Given the description of an element on the screen output the (x, y) to click on. 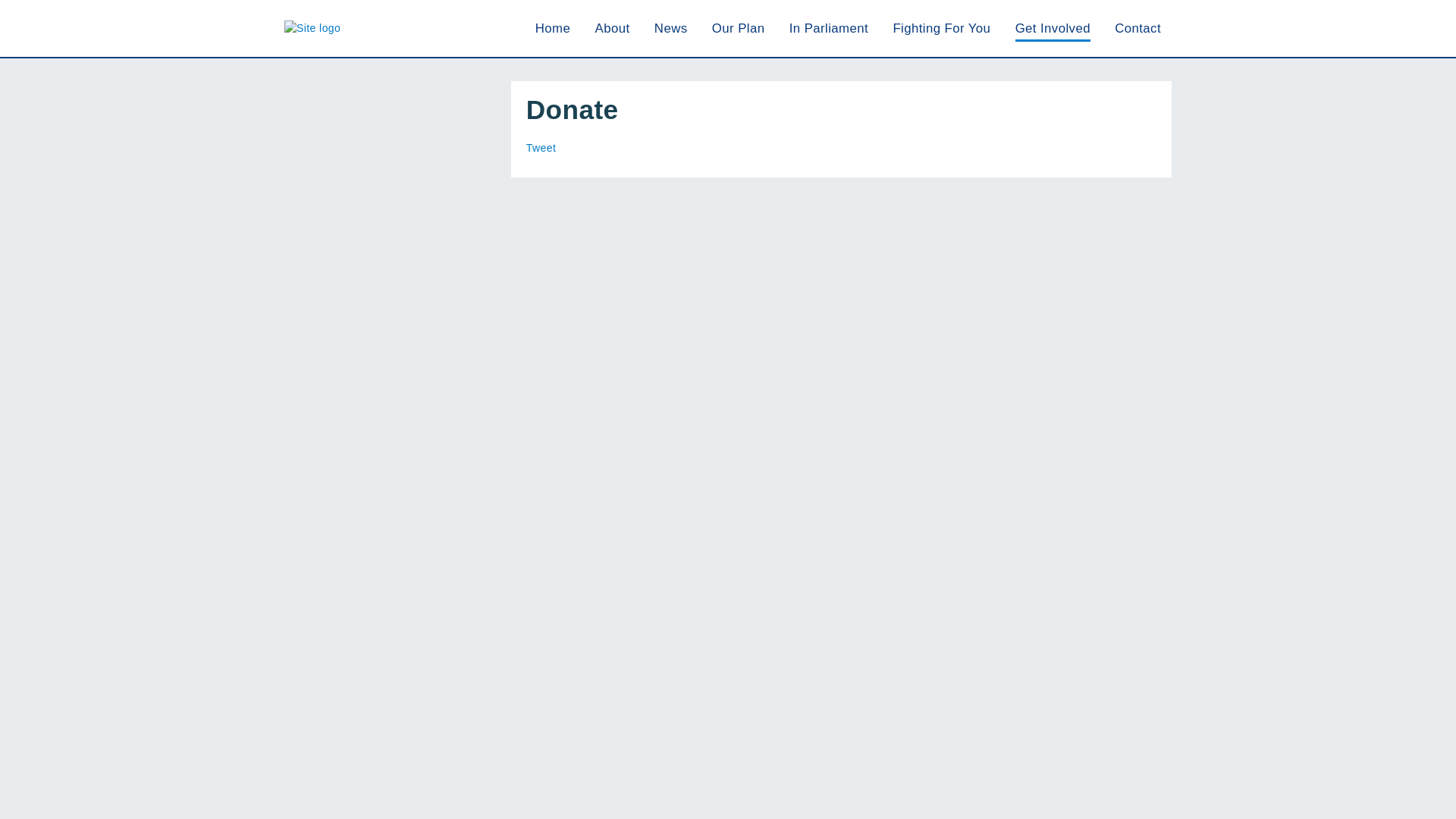
Get Involved (1052, 28)
In Parliament (828, 28)
Contact (1137, 28)
About (612, 28)
Home (552, 28)
Our Plan (738, 28)
Tweet (540, 147)
News (670, 28)
Fighting For You (941, 28)
